Given the description of an element on the screen output the (x, y) to click on. 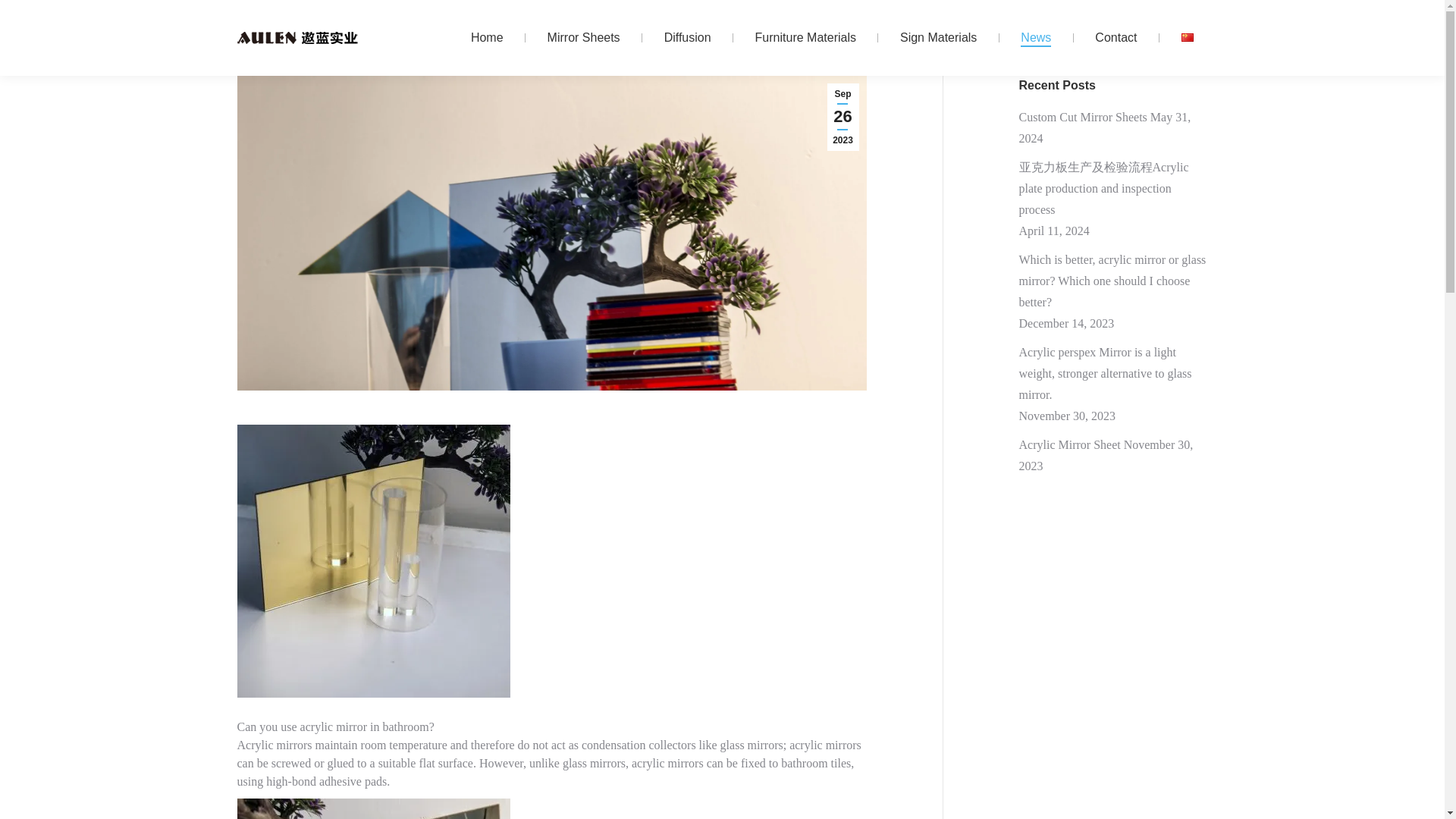
News (1035, 37)
Contact (1116, 37)
Diffusion (687, 37)
Mirror Sheets (583, 37)
Sign Materials (937, 37)
Furniture Materials (805, 37)
11:43 AM (843, 116)
Home (486, 37)
